Given the description of an element on the screen output the (x, y) to click on. 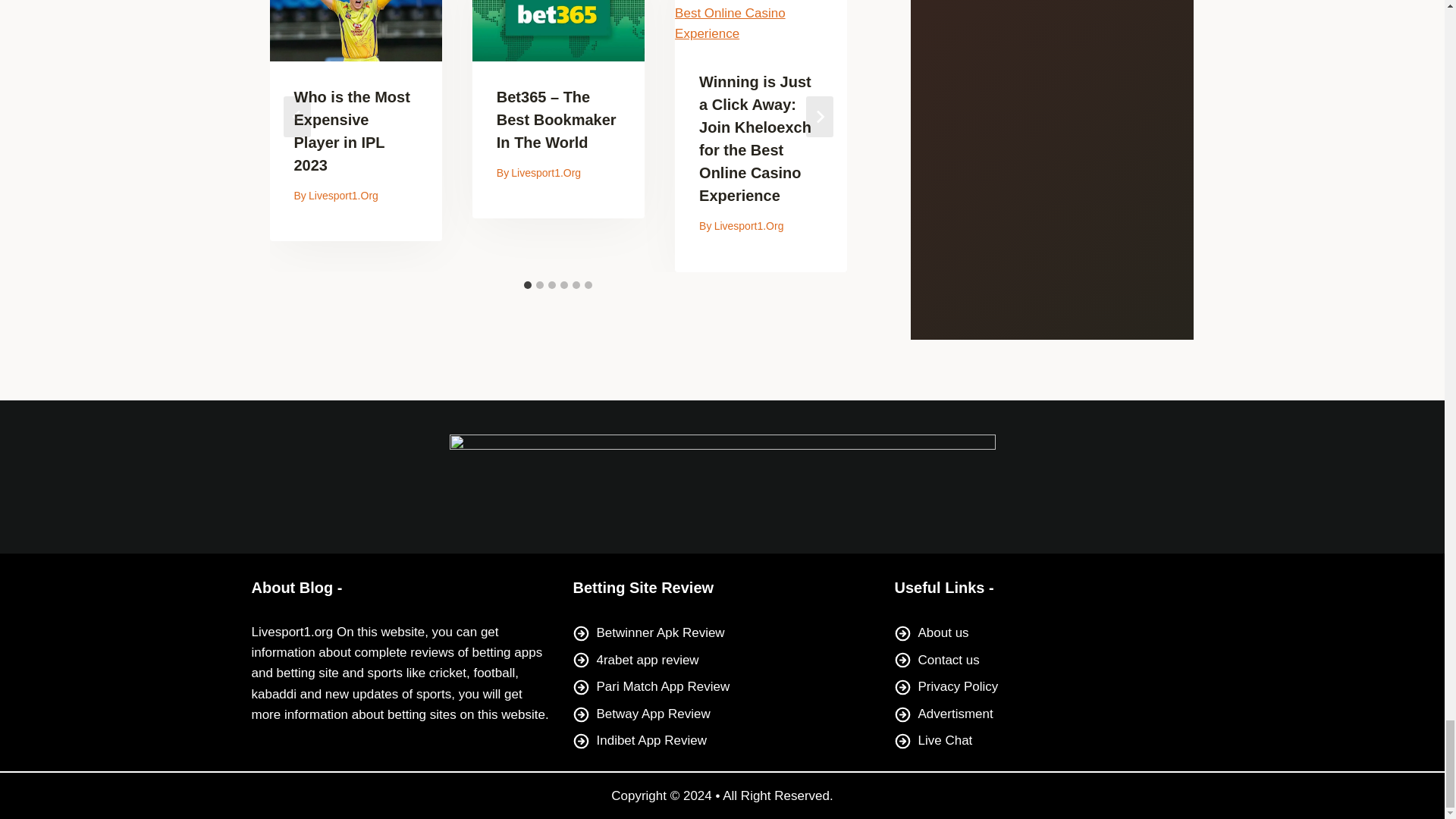
Who is the Most Expensive Player in IPL 2023 (352, 130)
Livesport1.Org (545, 173)
Livesport1.Org (749, 225)
Livesport1.Org (343, 195)
